Given the description of an element on the screen output the (x, y) to click on. 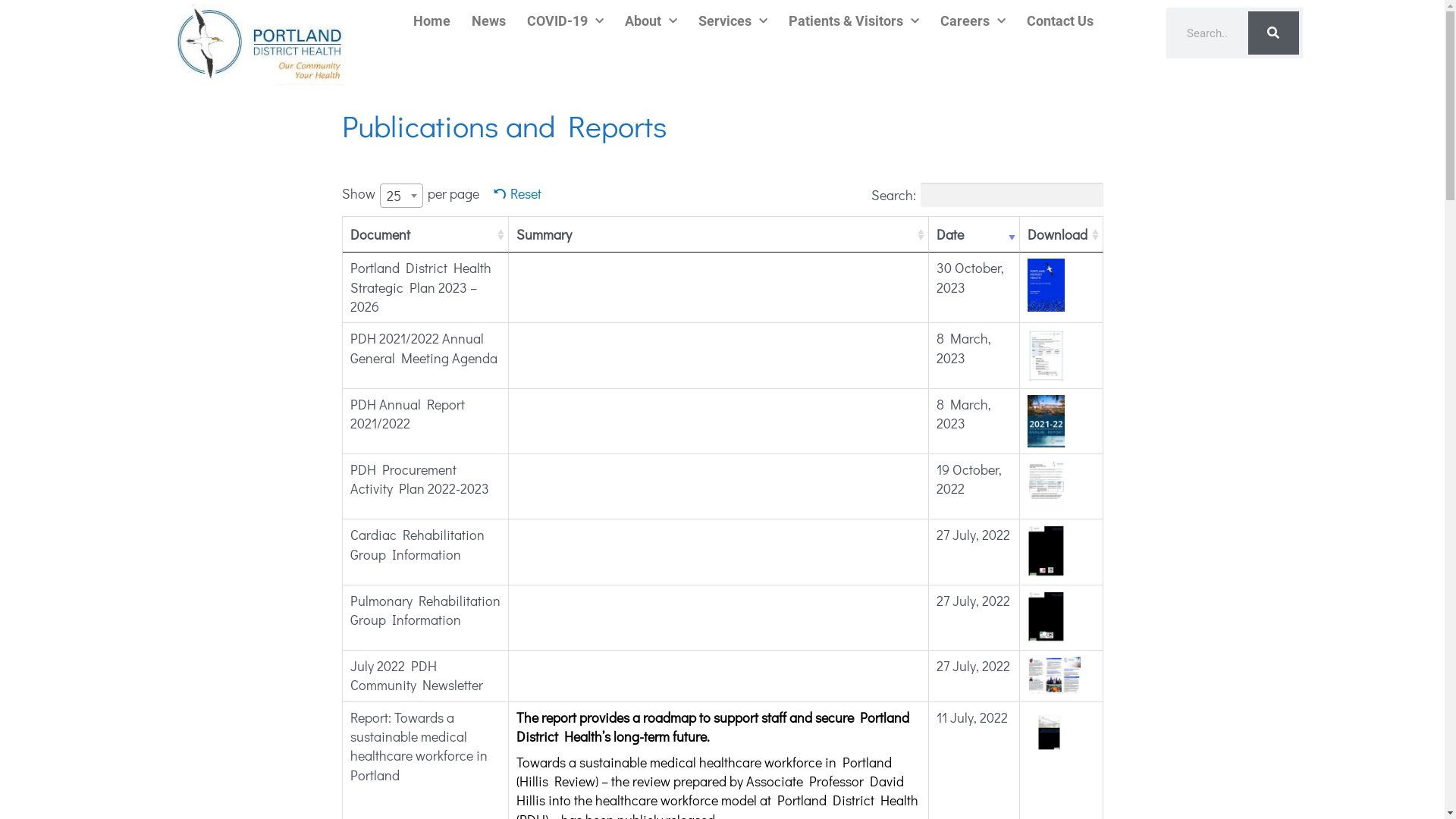
Careers Element type: text (972, 20)
Home Element type: text (431, 20)
Search Element type: text (1273, 32)
Contact Us Element type: text (1060, 20)
About Element type: text (650, 20)
COVID-19 Element type: text (565, 20)
Reset Element type: text (517, 193)
Services Element type: text (732, 20)
Patients & Visitors Element type: text (853, 20)
News Element type: text (488, 20)
